Given the description of an element on the screen output the (x, y) to click on. 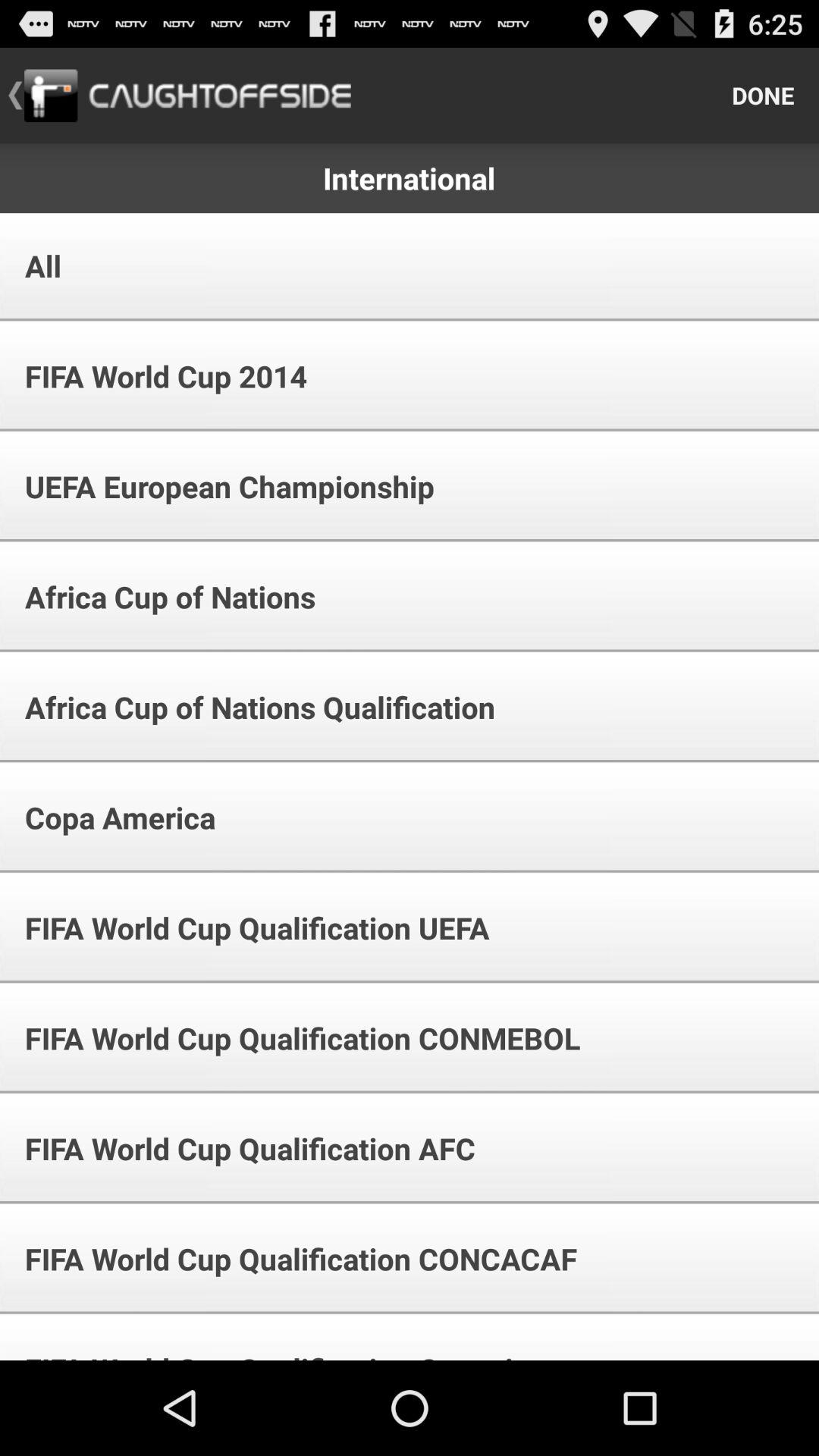
scroll to the uefa european championship item (219, 486)
